Given the description of an element on the screen output the (x, y) to click on. 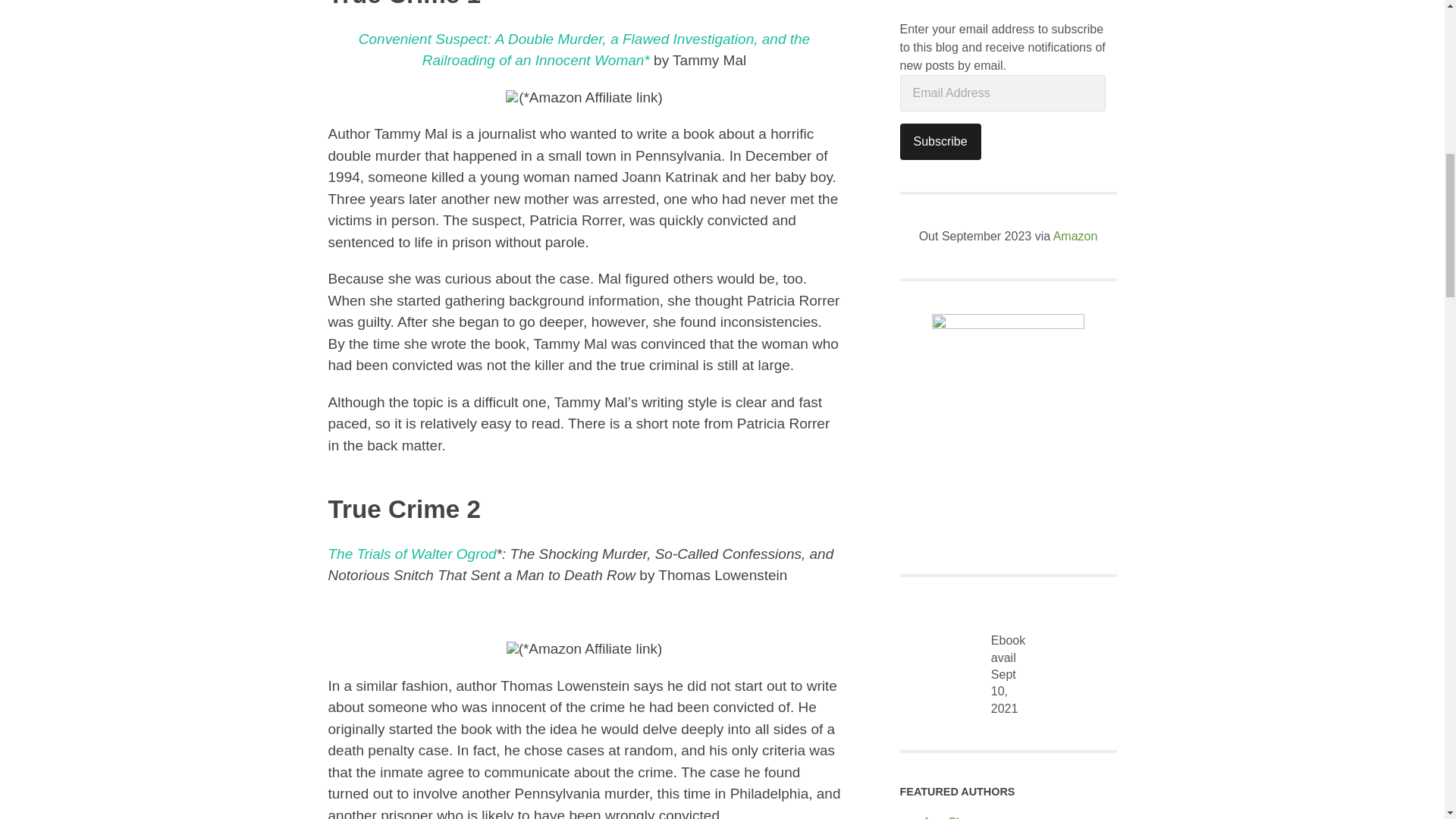
The Trials of Walter Ogrod (411, 553)
